Given the description of an element on the screen output the (x, y) to click on. 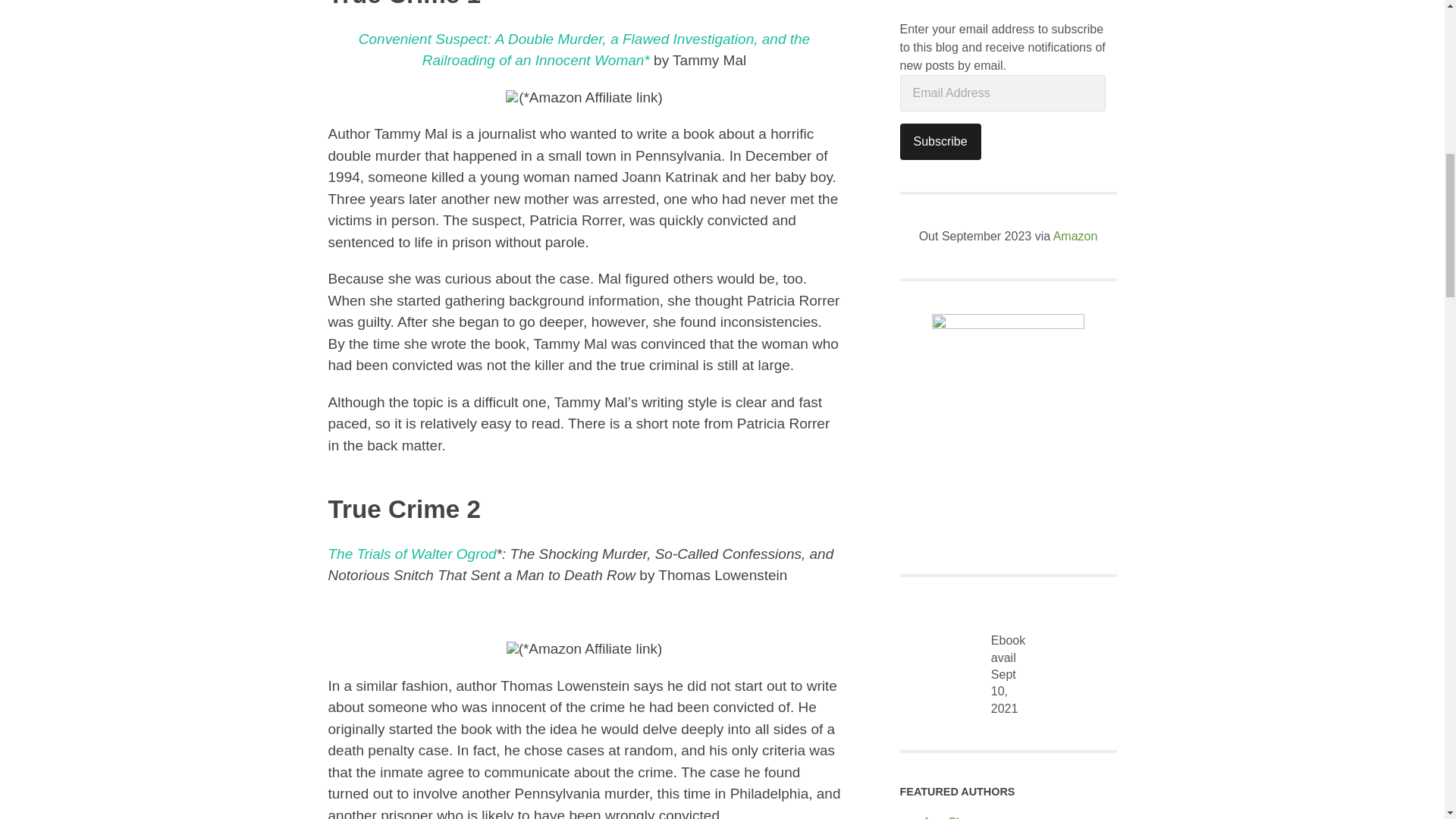
The Trials of Walter Ogrod (411, 553)
